Given the description of an element on the screen output the (x, y) to click on. 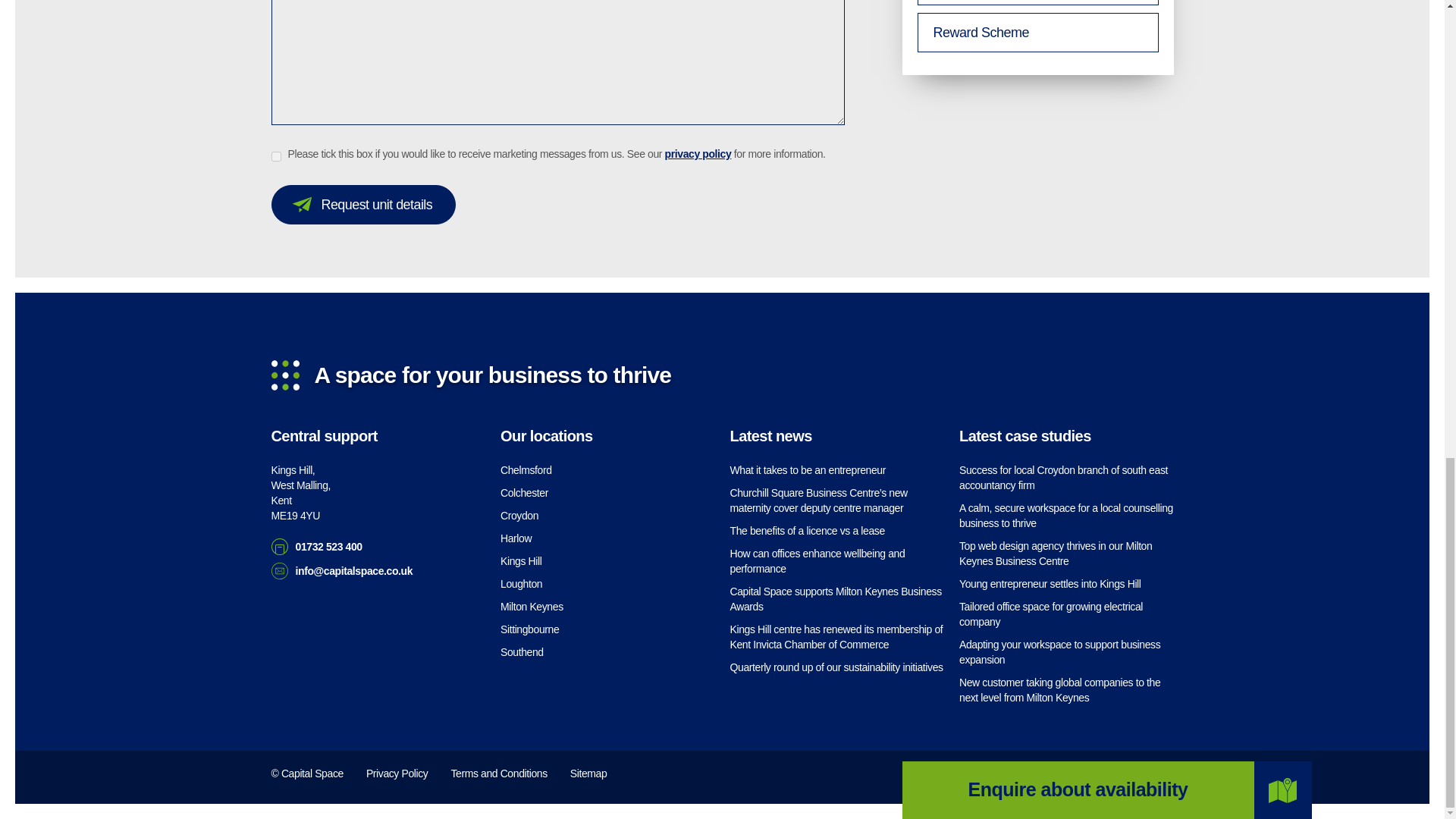
Reward Scheme (1037, 32)
Request unit details (363, 204)
privacy policy (698, 153)
Request unit details (363, 204)
Get quick quote (1101, 726)
Yes (275, 156)
Meet The Team (1037, 2)
